Given the description of an element on the screen output the (x, y) to click on. 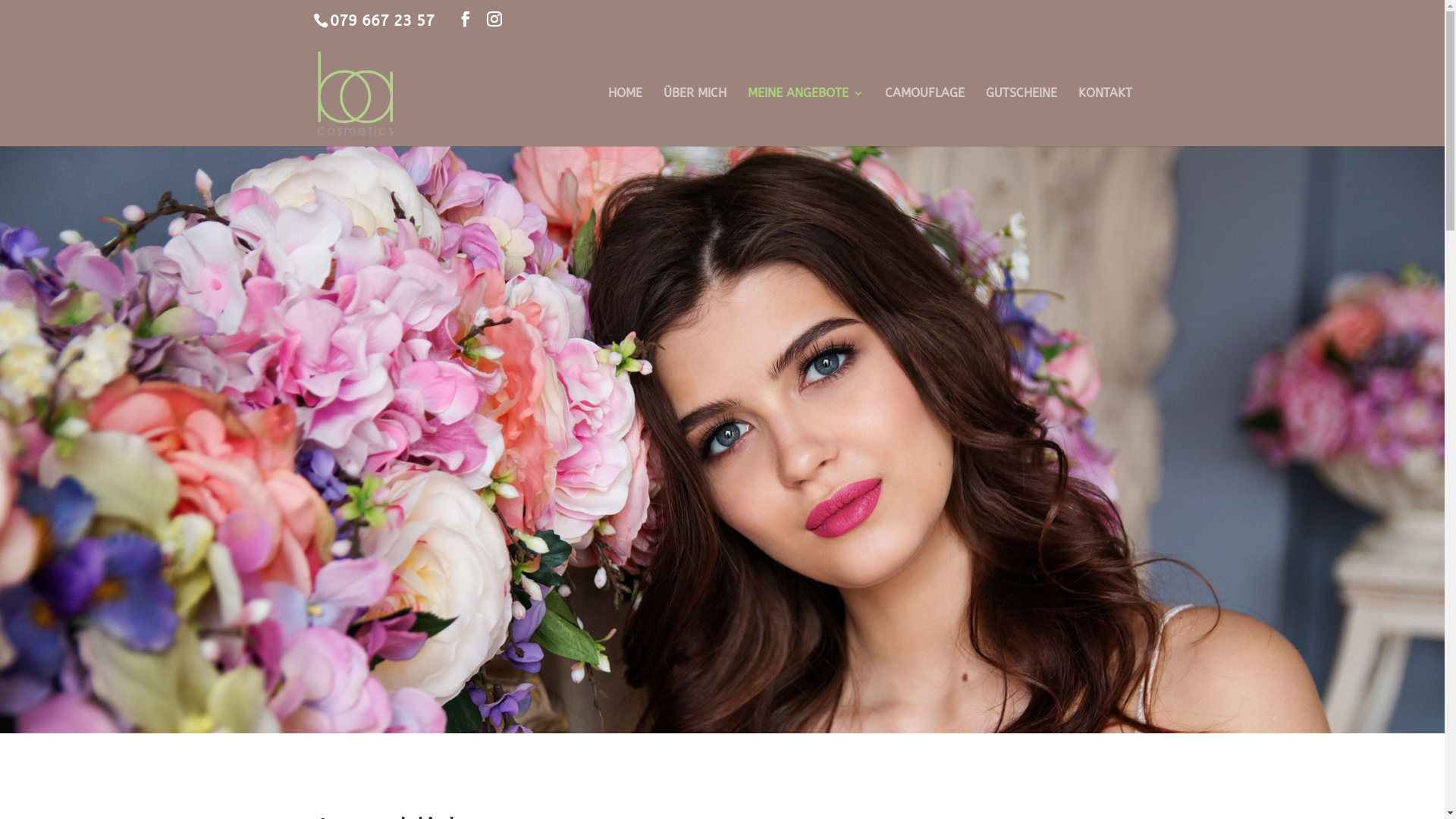
MEINE ANGEBOTE Element type: text (805, 116)
CAMOUFLAGE Element type: text (923, 116)
HOME Element type: text (625, 116)
GUTSCHEINE Element type: text (1021, 116)
KONTAKT Element type: text (1105, 116)
